Given the description of an element on the screen output the (x, y) to click on. 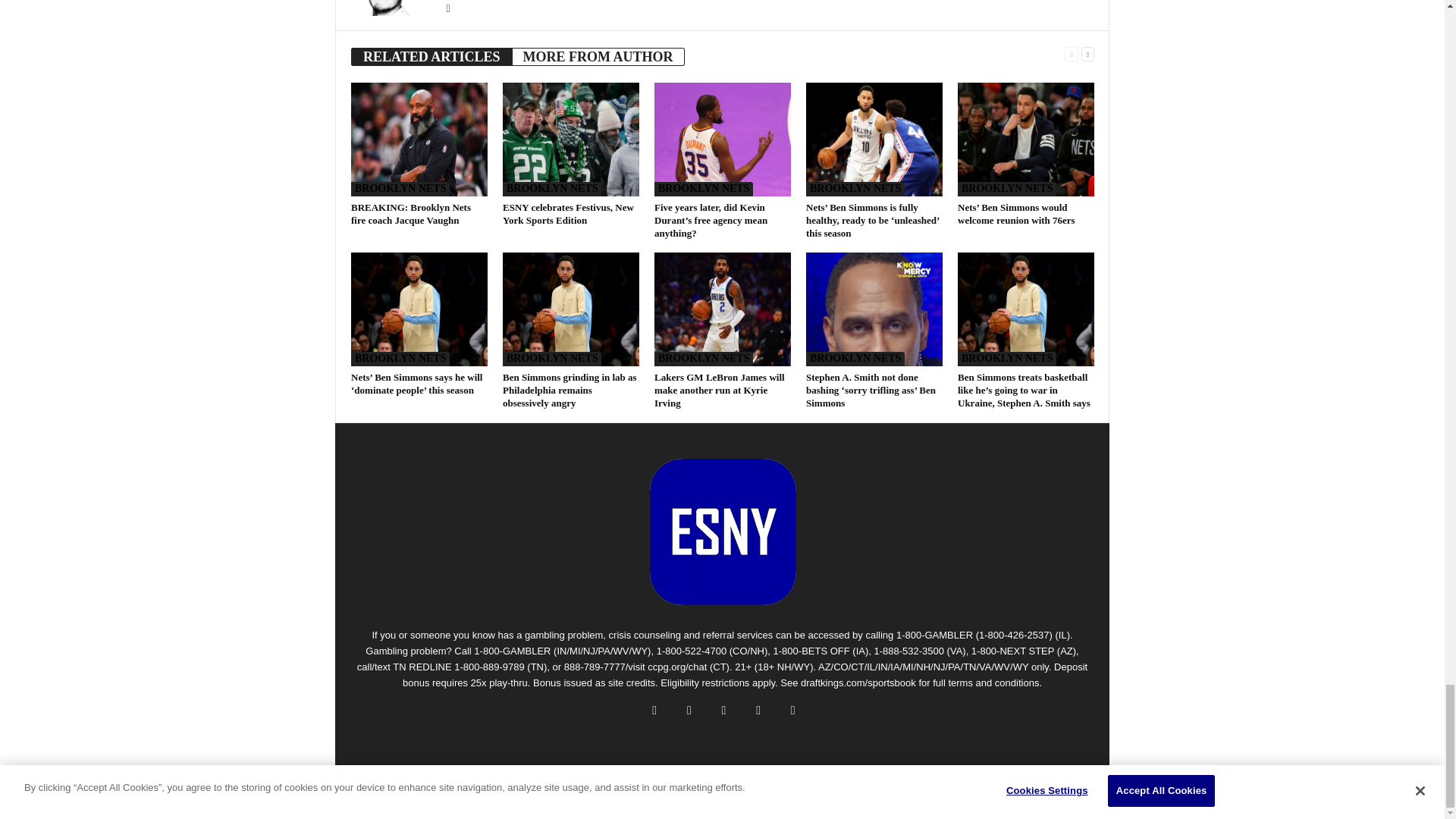
BREAKING: Brooklyn Nets fire coach Jacque Vaughn (410, 213)
BREAKING: Brooklyn Nets fire coach Jacque Vaughn (418, 139)
ESNY celebrates Festivus, New York Sports Edition (570, 139)
Facebook (448, 9)
